Given the description of an element on the screen output the (x, y) to click on. 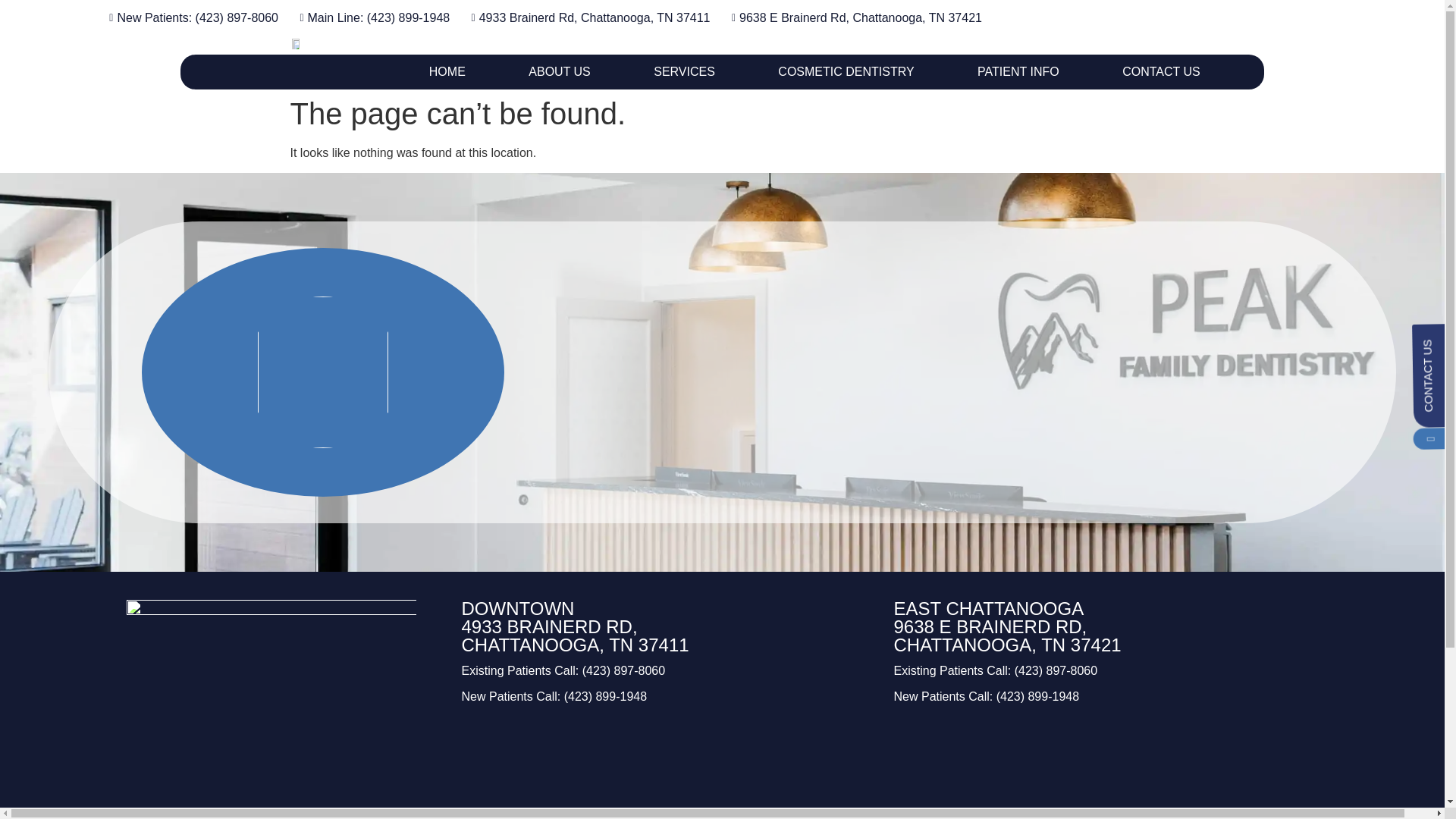
9638 E Brainerd Rd, Chattanooga, TN 37421 (851, 18)
9638 E Brainerd Rd, Chattanooga, TN 37421 (1098, 766)
4933 Brainerd Rd, Chattanooga, TN 37411 (665, 766)
4933 Brainerd Rd, Chattanooga, TN 37411 (585, 18)
